Given the description of an element on the screen output the (x, y) to click on. 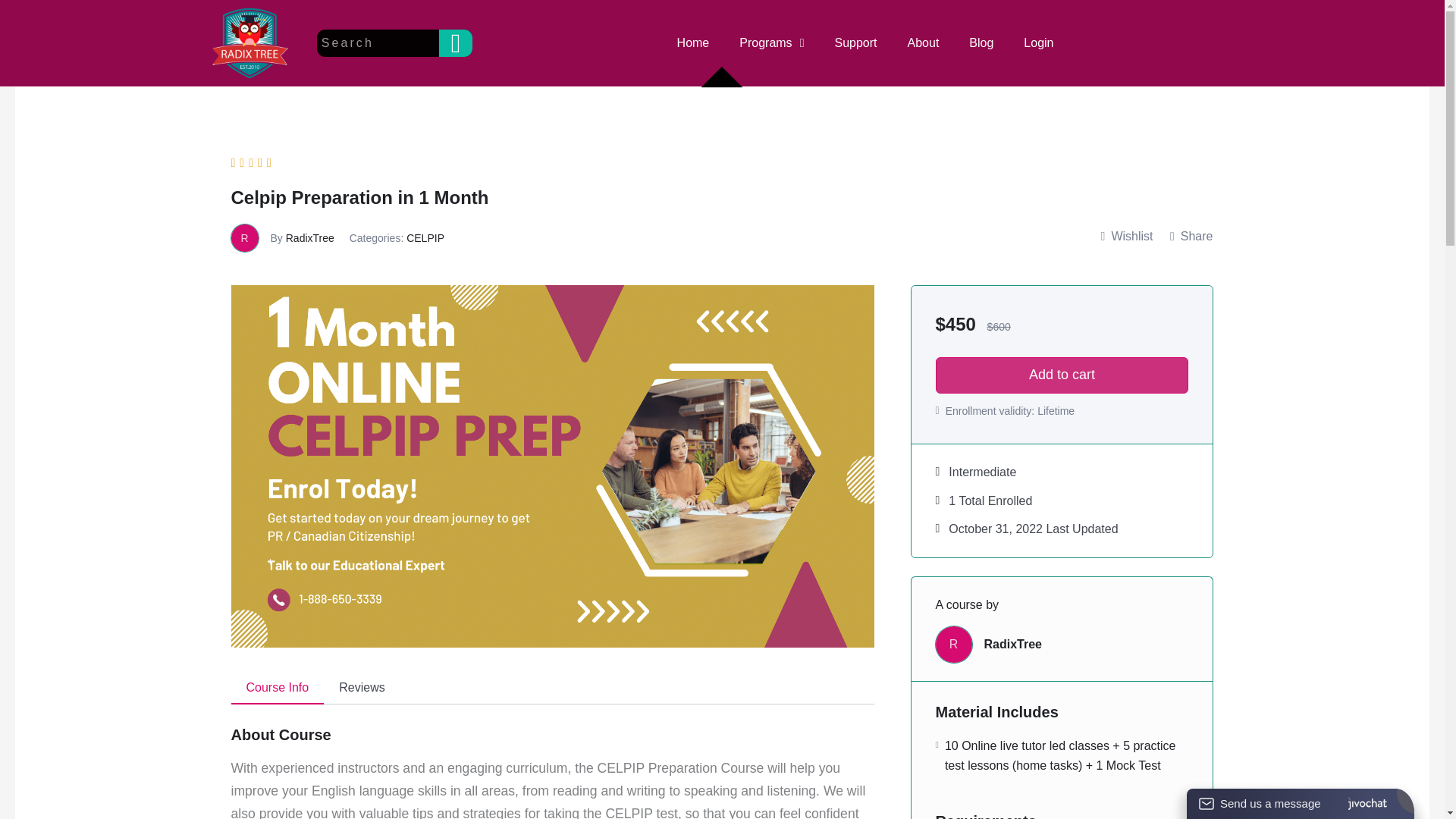
Support (854, 42)
About (923, 42)
Home (693, 42)
Search (455, 42)
Blog (981, 42)
Programs (770, 42)
Login (1038, 42)
